Given the description of an element on the screen output the (x, y) to click on. 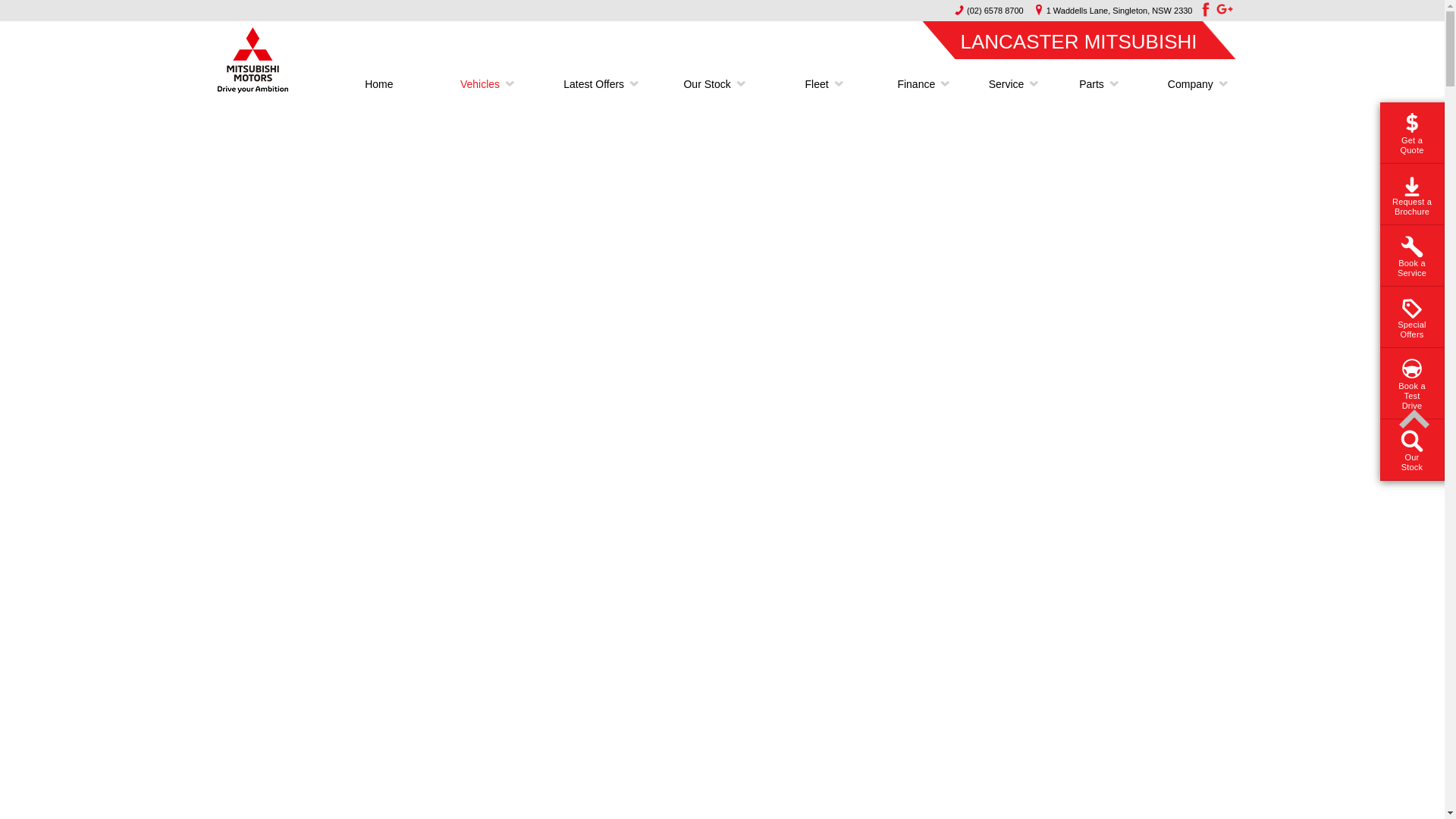
Fleet Element type: text (816, 84)
Latest Offers Element type: text (593, 84)
Vehicles Element type: text (479, 84)
googleplus Element type: text (1224, 9)
Company Element type: text (1184, 84)
Service Element type: text (1006, 84)
Parts Element type: text (1091, 84)
LANCASTER MITSUBISHI Element type: text (1078, 40)
facebook Element type: text (1203, 9)
Home Element type: text (378, 84)
Our Stock Element type: text (706, 84)
1 Waddells Lane, Singleton, NSW 2330 Element type: text (1109, 10)
Finance Element type: text (915, 84)
